Given the description of an element on the screen output the (x, y) to click on. 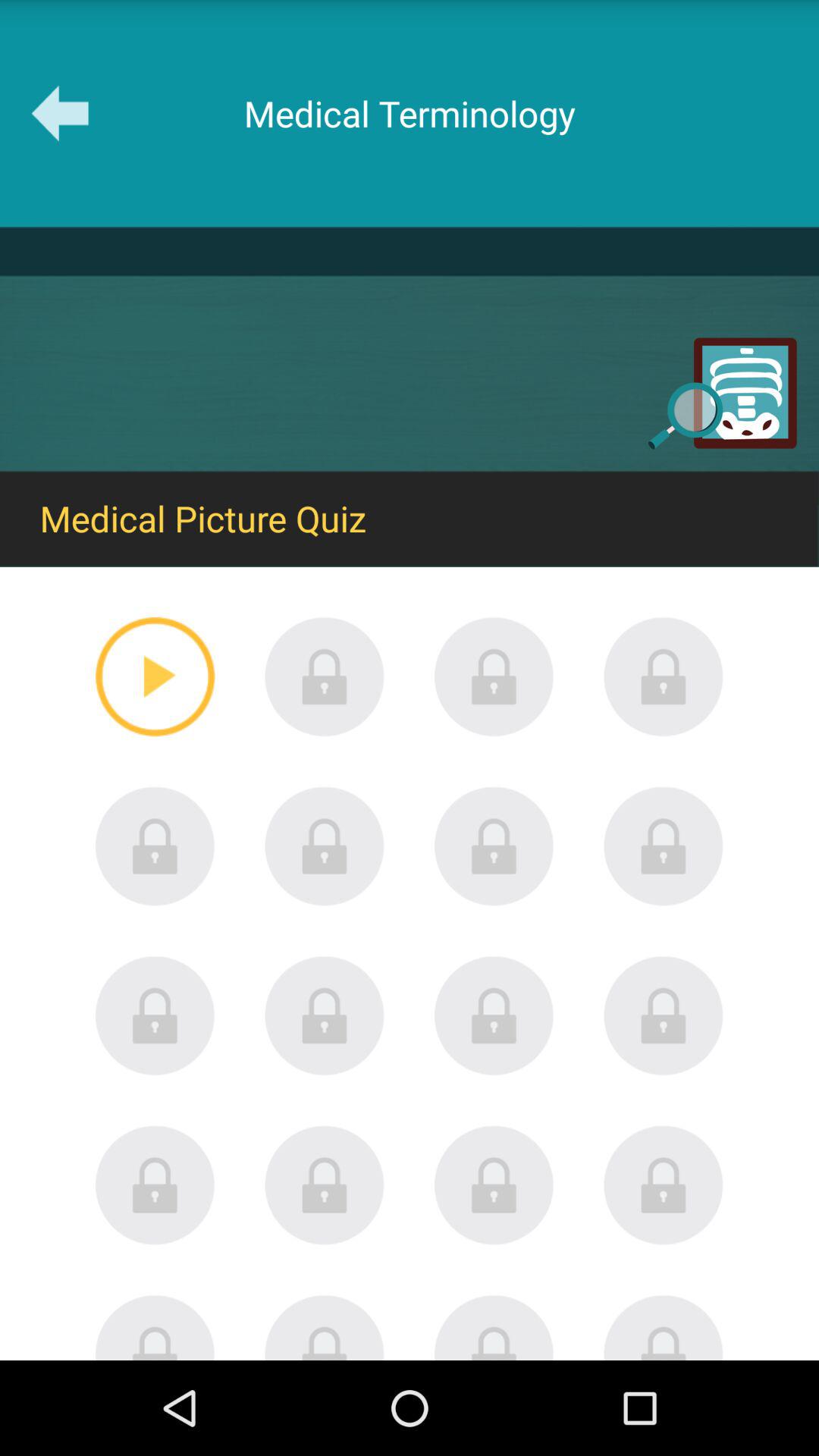
open quiz 7 (493, 846)
